Given the description of an element on the screen output the (x, y) to click on. 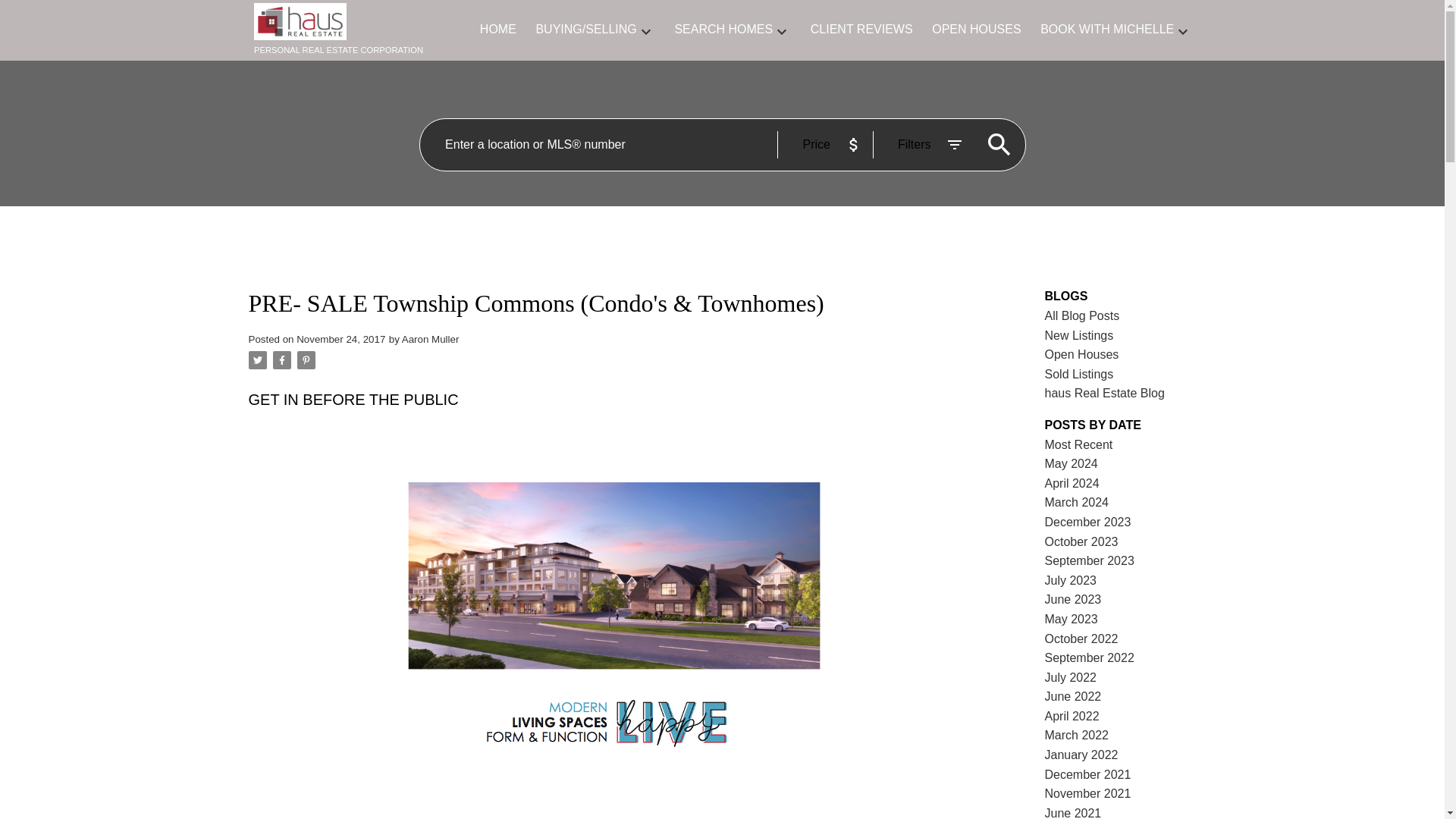
September 2023 (1089, 560)
May 2023 (1071, 618)
December 2023 (1088, 521)
Open Houses (1082, 354)
PERSONAL REAL ESTATE CORPORATION (349, 30)
March 2024 (1077, 502)
October 2023 (1081, 541)
Most Recent (1079, 444)
haus Real Estate Blog (1104, 392)
May 2024 (1071, 463)
June 2023 (1073, 599)
July 2022 (1071, 676)
CLIENT REVIEWS (861, 30)
July 2023 (1071, 580)
April 2024 (1072, 482)
